Given the description of an element on the screen output the (x, y) to click on. 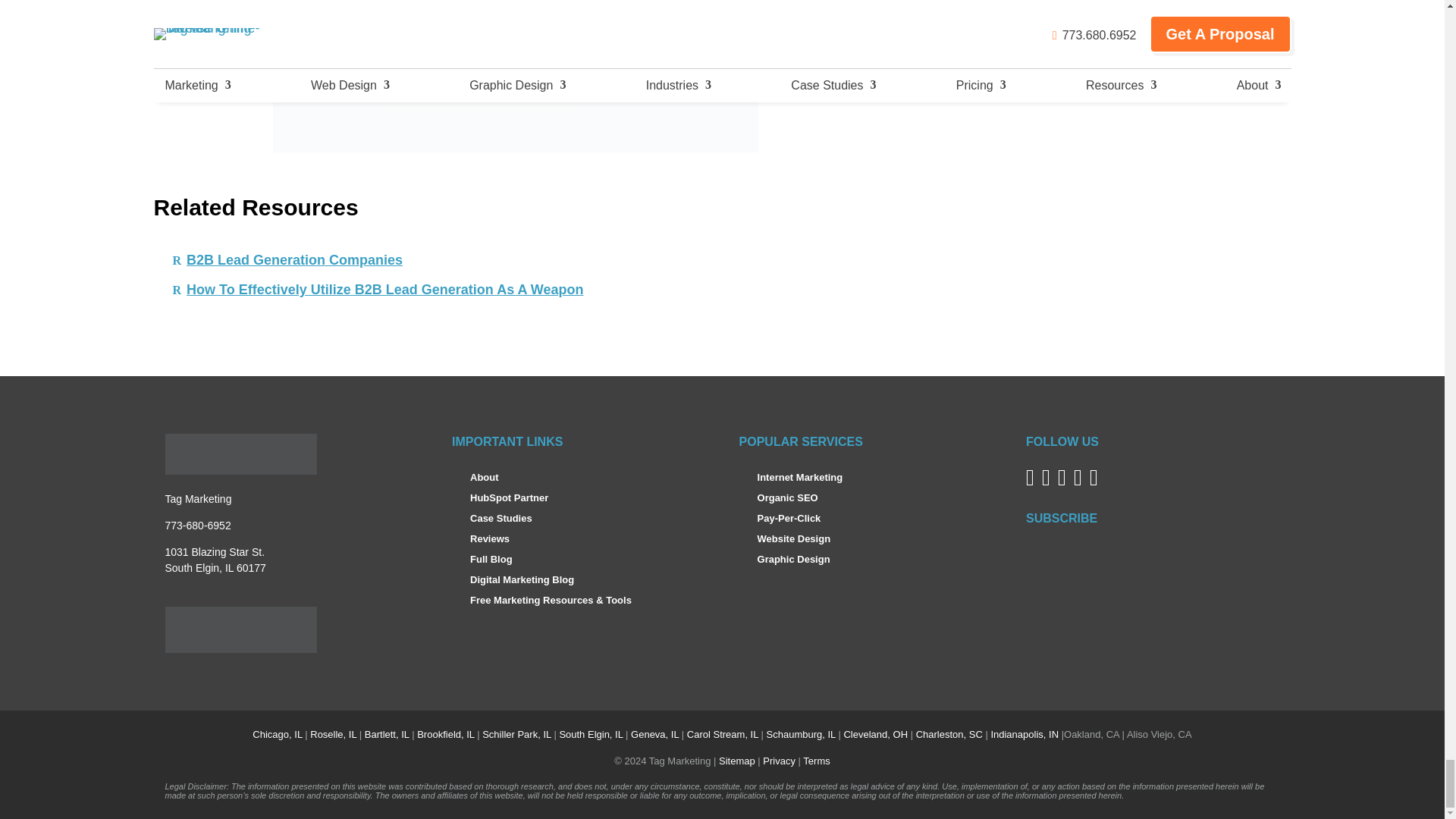
eBook 30 Lead Generation Tips (515, 76)
Tag Marketing - Diverse Online Marketing (241, 454)
Directions to Tag Marketing South Elgin (215, 560)
